Given the description of an element on the screen output the (x, y) to click on. 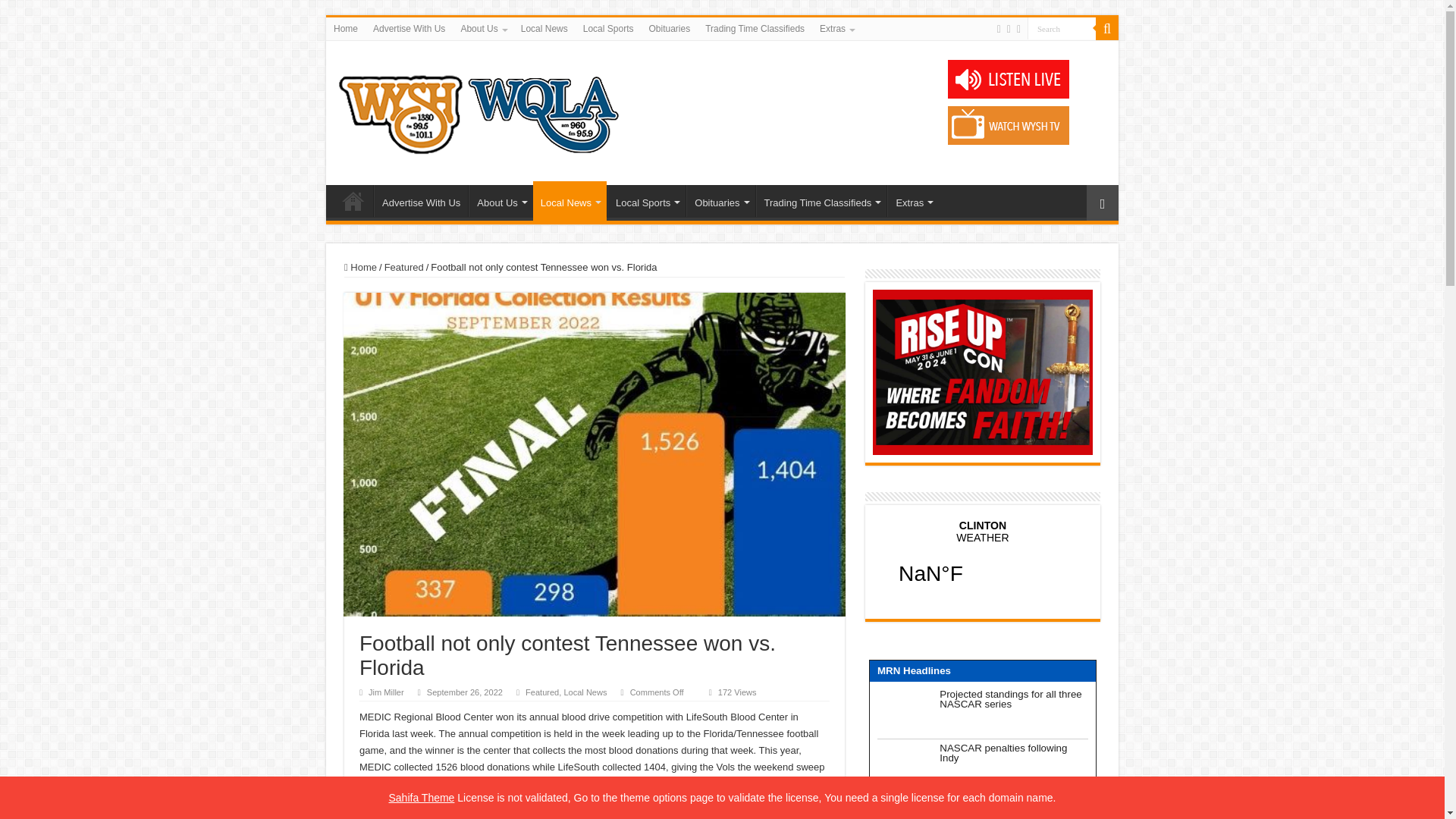
Search (1107, 28)
Home (345, 28)
Advertise With Us (408, 28)
Obituaries (668, 28)
Local Sports (608, 28)
NASCAR penalties following Indy (1013, 765)
Trading Time Classifieds (754, 28)
Search (1061, 28)
Projected standings for all three NASCAR series (1013, 711)
Drivers in focus leaving Indianapolis (1013, 807)
About Us (482, 28)
Search (1061, 28)
Local News (544, 28)
Search (1061, 28)
